Given the description of an element on the screen output the (x, y) to click on. 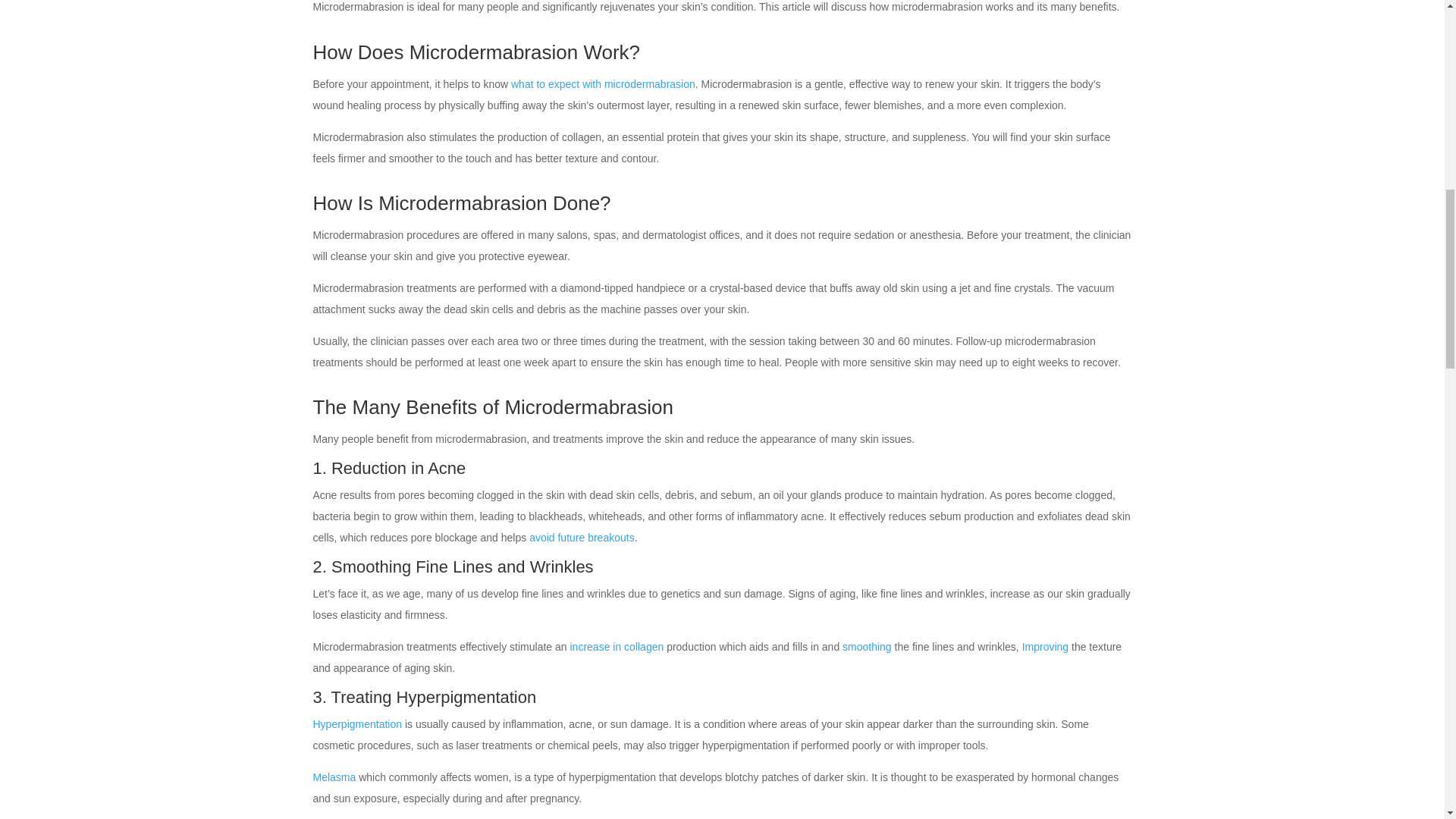
what to expect with microdermabrasion (603, 83)
smoothing (867, 646)
avoid future breakouts (581, 537)
increase in collagen (616, 646)
